Given the description of an element on the screen output the (x, y) to click on. 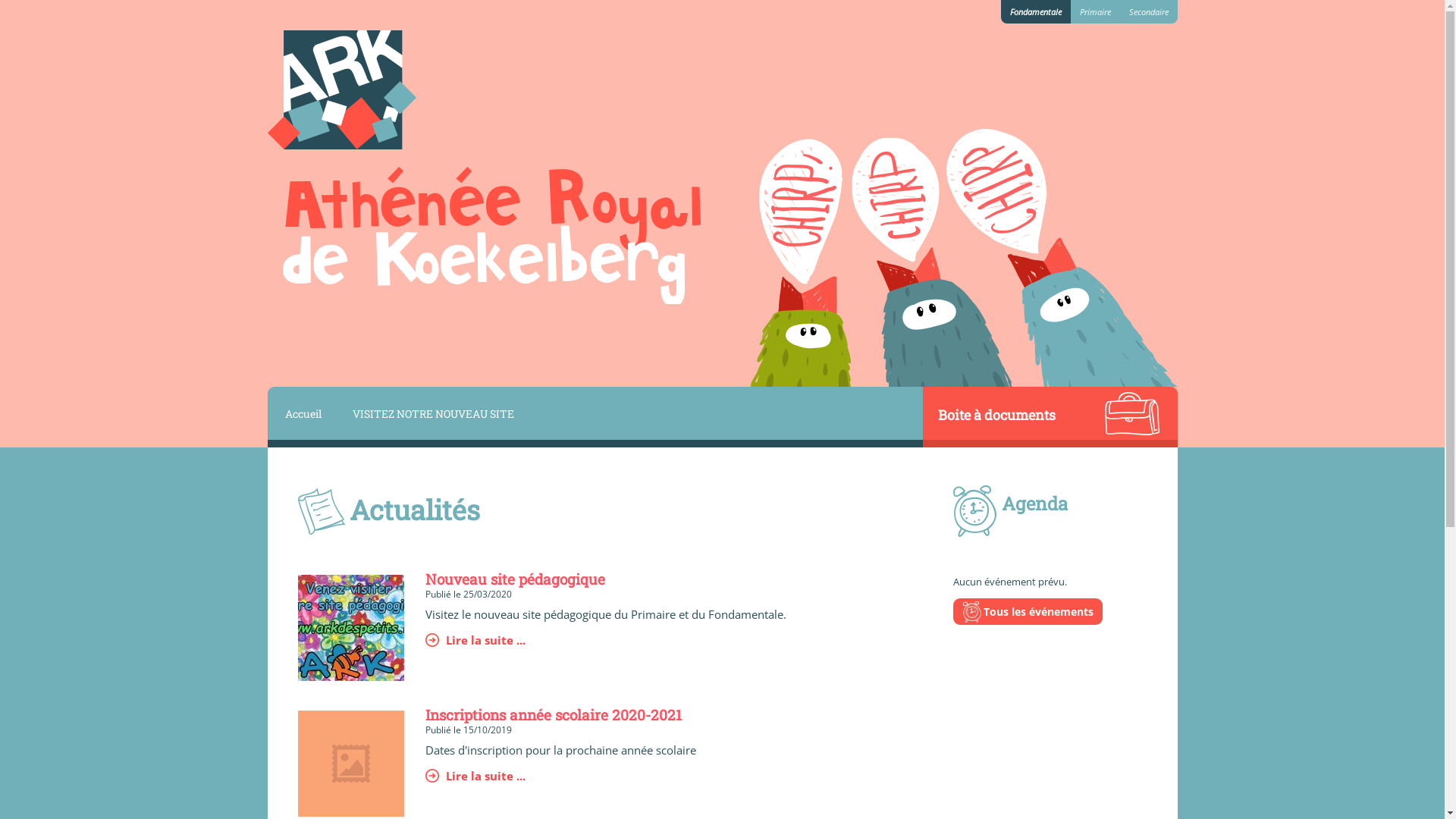
Lire la suite ... Element type: text (559, 775)
Fondamentale Element type: text (1035, 11)
VISITEZ NOTRE NOUVEAU SITE Element type: text (431, 412)
Agenda Element type: text (1033, 503)
Tous les documents Element type: text (1021, 515)
Lire la suite ... Element type: text (604, 639)
Accueil Element type: text (300, 412)
Primaire Element type: text (1095, 11)
Secondaire Element type: text (1147, 11)
